Given the description of an element on the screen output the (x, y) to click on. 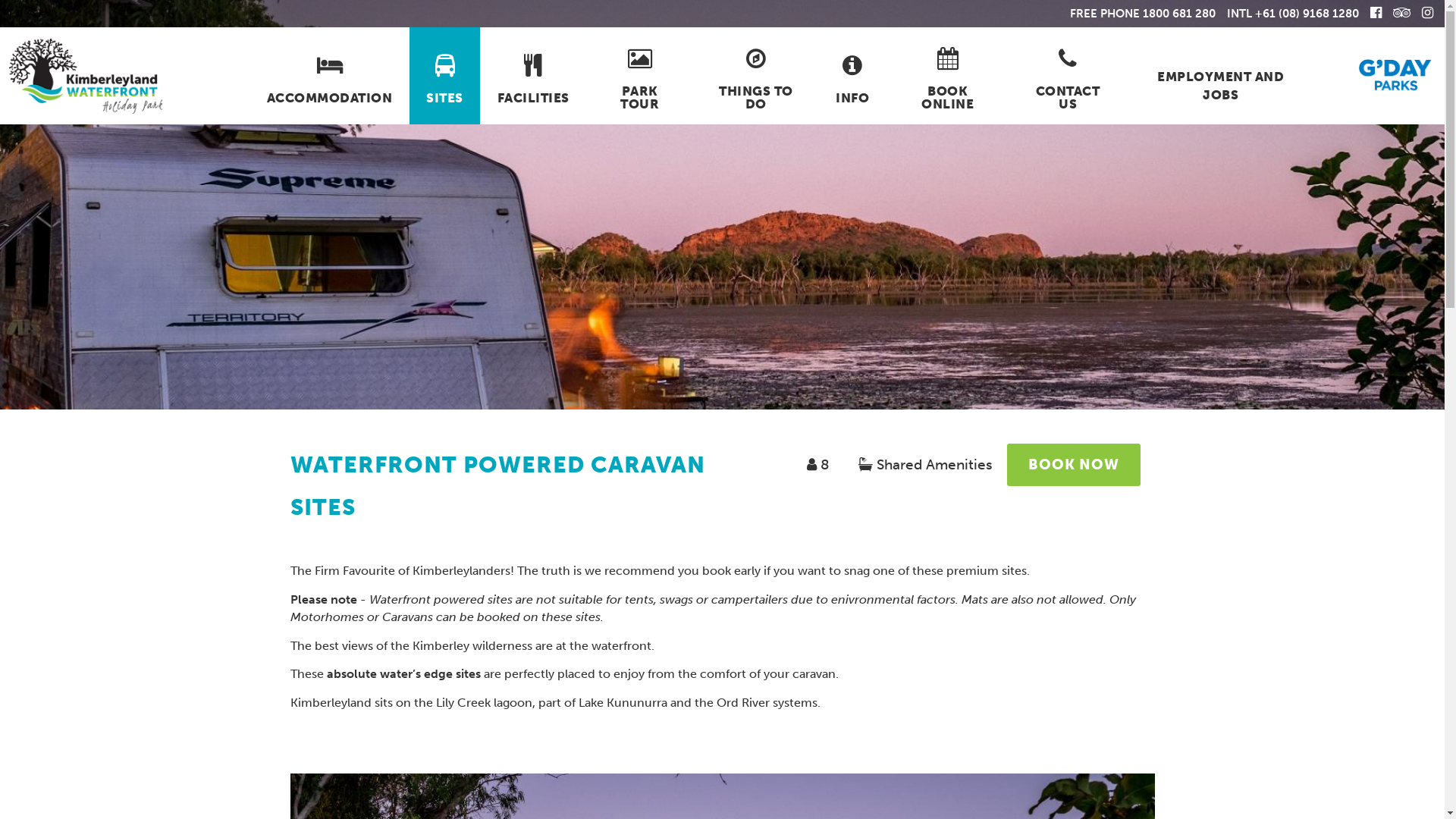
BOOK NOW Element type: text (1073, 464)
SITES Element type: text (444, 75)
ACCOMMODATION Element type: text (329, 75)
THINGS TO DO Element type: text (756, 75)
CONTACT US Element type: text (1067, 75)
FACILITIES Element type: text (533, 75)
PARK TOUR Element type: text (639, 75)
1800 681 280 Element type: text (1178, 12)
BOOK ONLINE Element type: text (948, 75)
INFO Element type: text (852, 75)
+61 (08) 9168 1280 Element type: text (1306, 12)
EMPLOYMENT AND JOBS Element type: text (1220, 75)
